Given the description of an element on the screen output the (x, y) to click on. 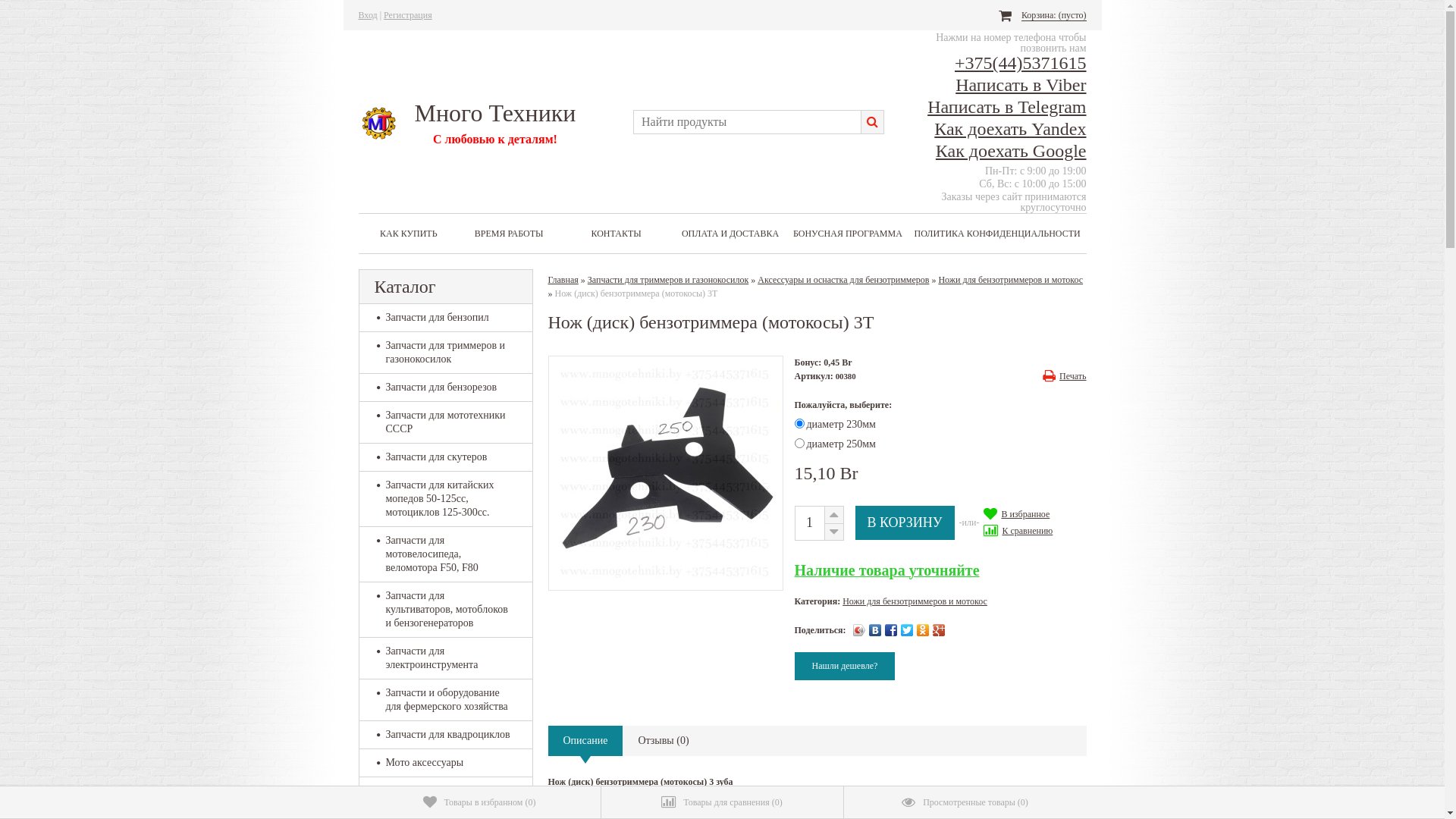
+375(44)5371615 Element type: text (1020, 62)
Twitter Element type: hover (907, 630)
Google Plus Element type: hover (939, 630)
Facebook Element type: hover (891, 630)
